Given the description of an element on the screen output the (x, y) to click on. 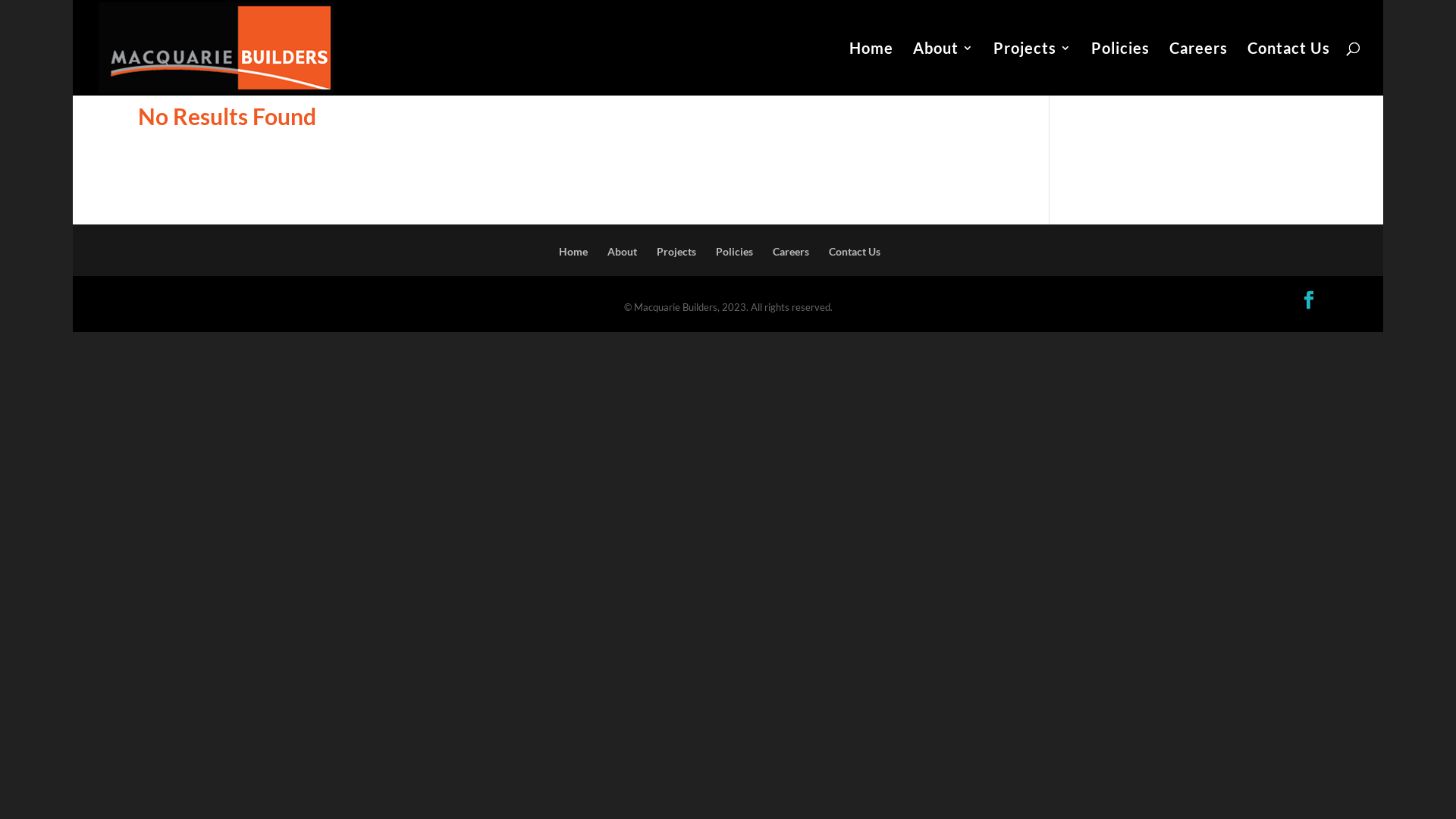
Policies Element type: text (1120, 68)
Projects Element type: text (676, 250)
Projects Element type: text (1032, 68)
Contact Us Element type: text (1288, 68)
Careers Element type: text (1198, 68)
About Element type: text (943, 68)
About Element type: text (622, 250)
Careers Element type: text (790, 250)
Contact Us Element type: text (854, 250)
Policies Element type: text (734, 250)
Home Element type: text (572, 250)
Home Element type: text (871, 68)
